Given the description of an element on the screen output the (x, y) to click on. 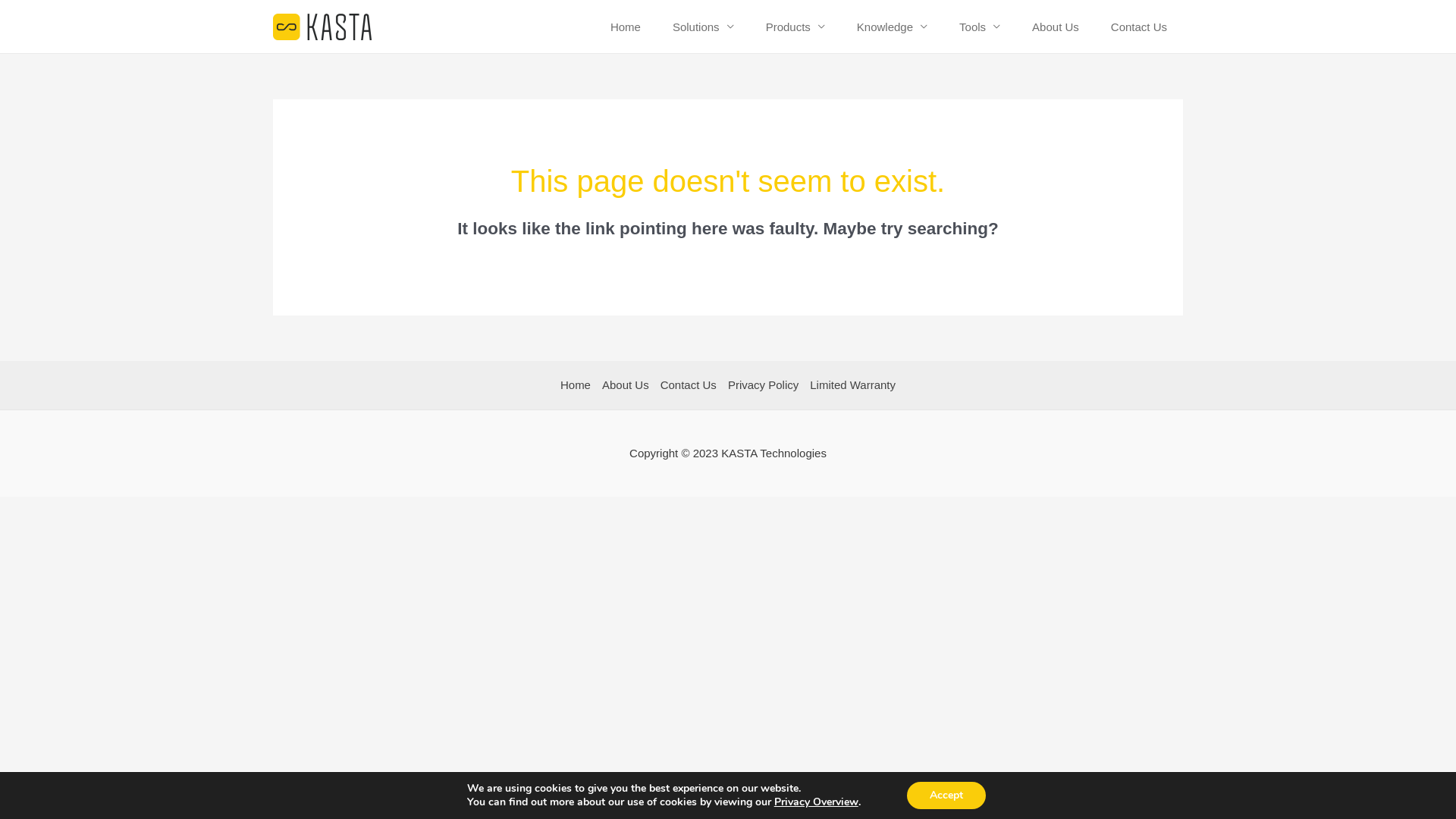
Privacy Policy Element type: text (762, 385)
Accept Element type: text (945, 795)
Privacy Overview Element type: text (816, 802)
Home Element type: text (625, 26)
Contact Us Element type: text (1139, 26)
Tools Element type: text (979, 26)
About Us Element type: text (1055, 26)
Knowledge Element type: text (891, 26)
Home Element type: text (578, 385)
Limited Warranty Element type: text (849, 385)
Solutions Element type: text (702, 26)
About Us Element type: text (625, 385)
Contact Us Element type: text (687, 385)
Products Element type: text (794, 26)
